Given the description of an element on the screen output the (x, y) to click on. 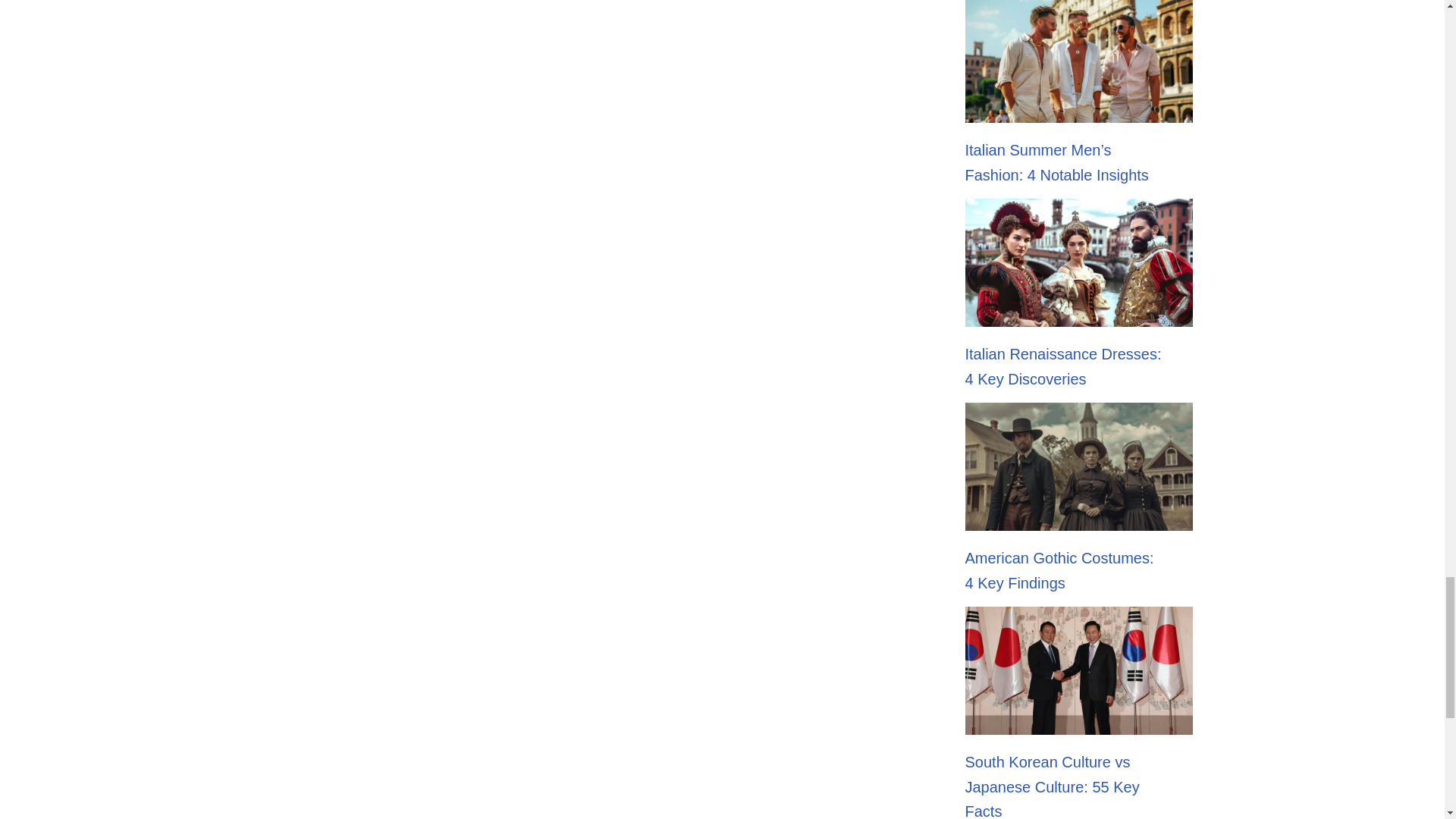
Italian Renaissance Dresses: 4 Key Discoveries (1061, 366)
American Gothic Costumes: 4 Key Findings (1058, 570)
South Korean Culture vs Japanese Culture: 55 Key Facts (1050, 786)
